Given the description of an element on the screen output the (x, y) to click on. 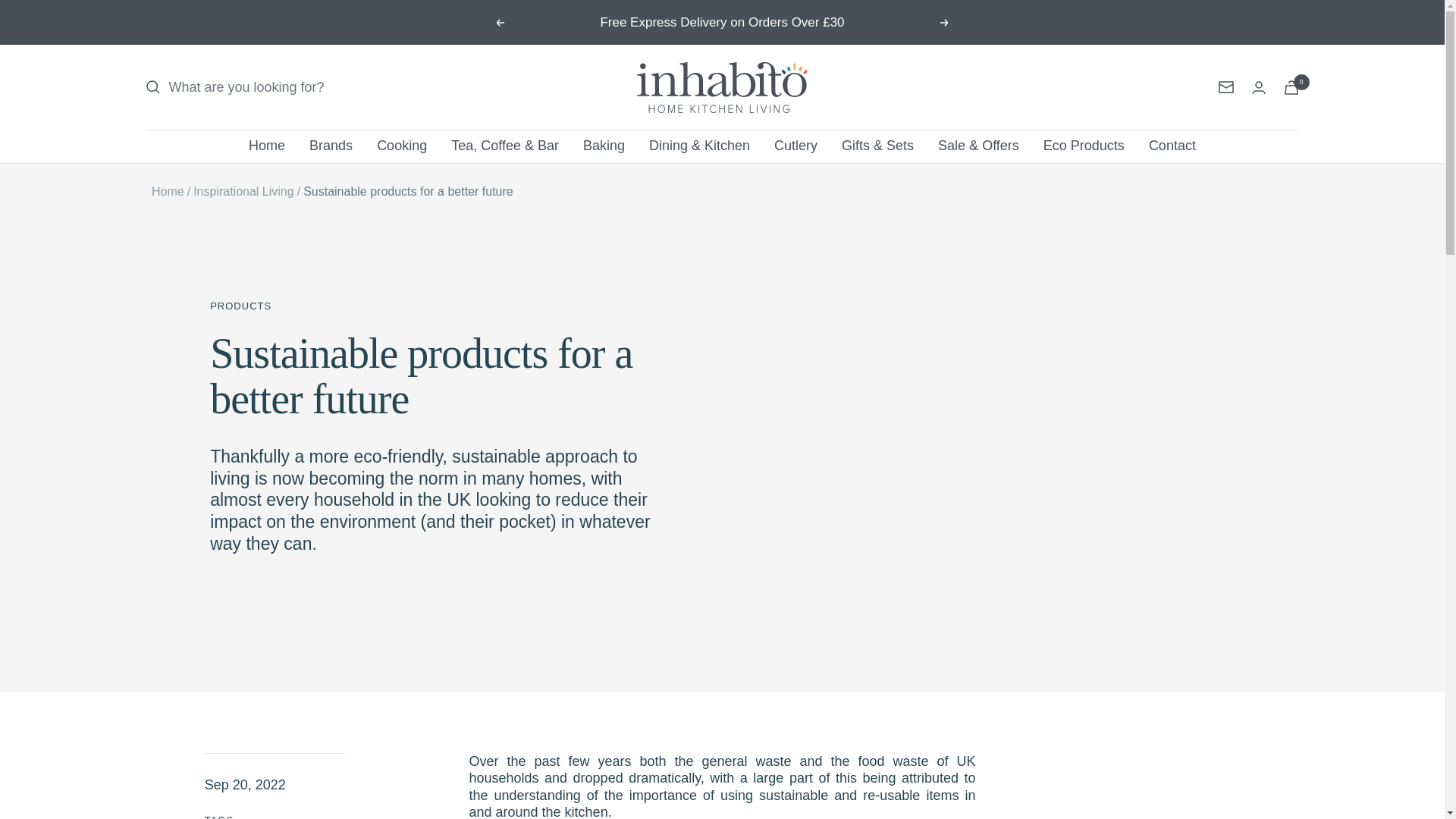
Eco Products (1083, 145)
Cutlery (795, 145)
Next (944, 22)
Brands (330, 145)
Baking (603, 145)
Contact (1171, 145)
Previous (499, 22)
Inhabito (722, 86)
0 (1290, 87)
Home (266, 145)
